Given the description of an element on the screen output the (x, y) to click on. 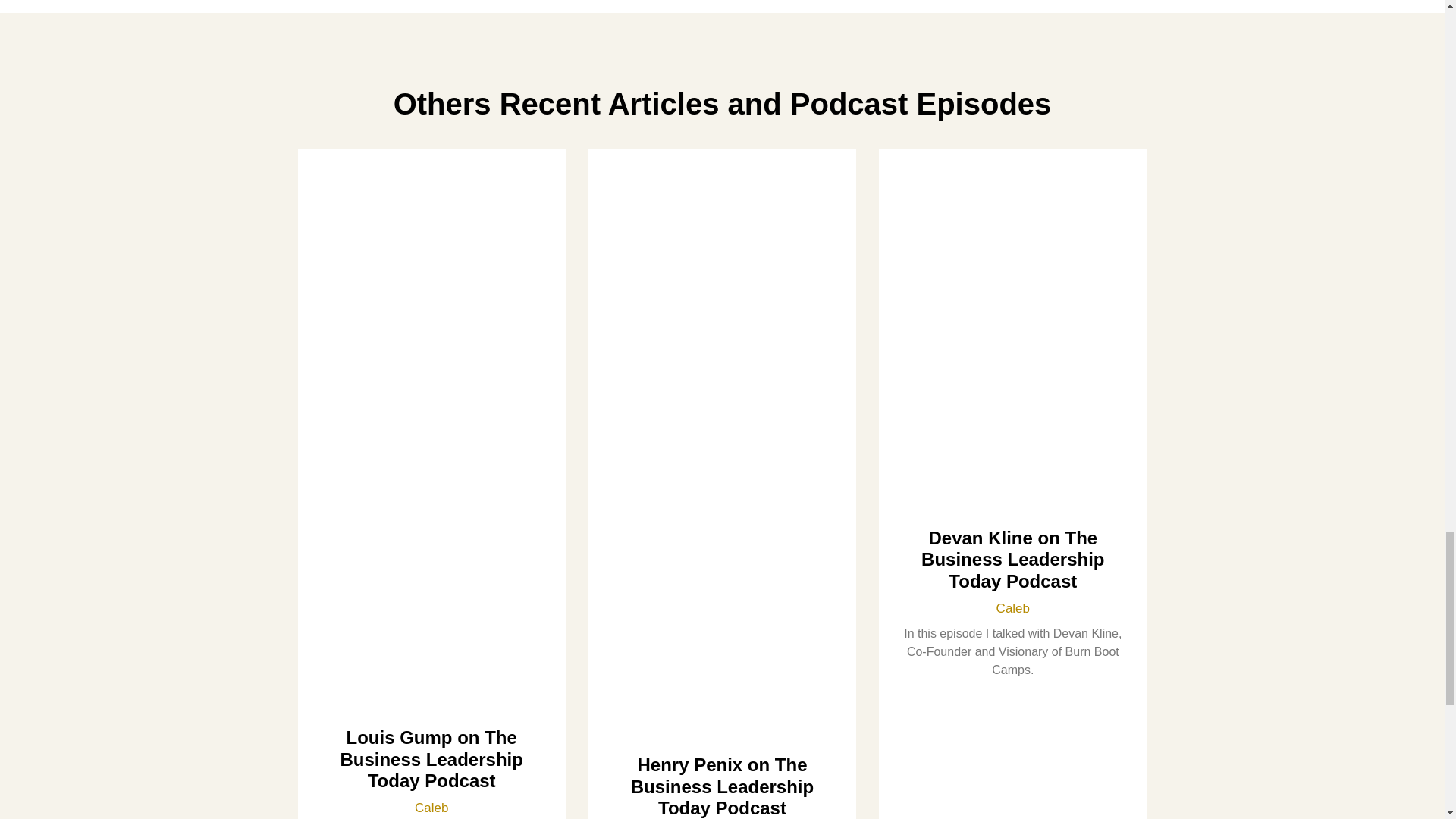
Louis Gump on The Business Leadership Today Podcast (430, 759)
Henry Penix on The Business Leadership Today Podcast (721, 786)
Devan Kline on The Business Leadership Today Podcast (1012, 559)
